Given the description of an element on the screen output the (x, y) to click on. 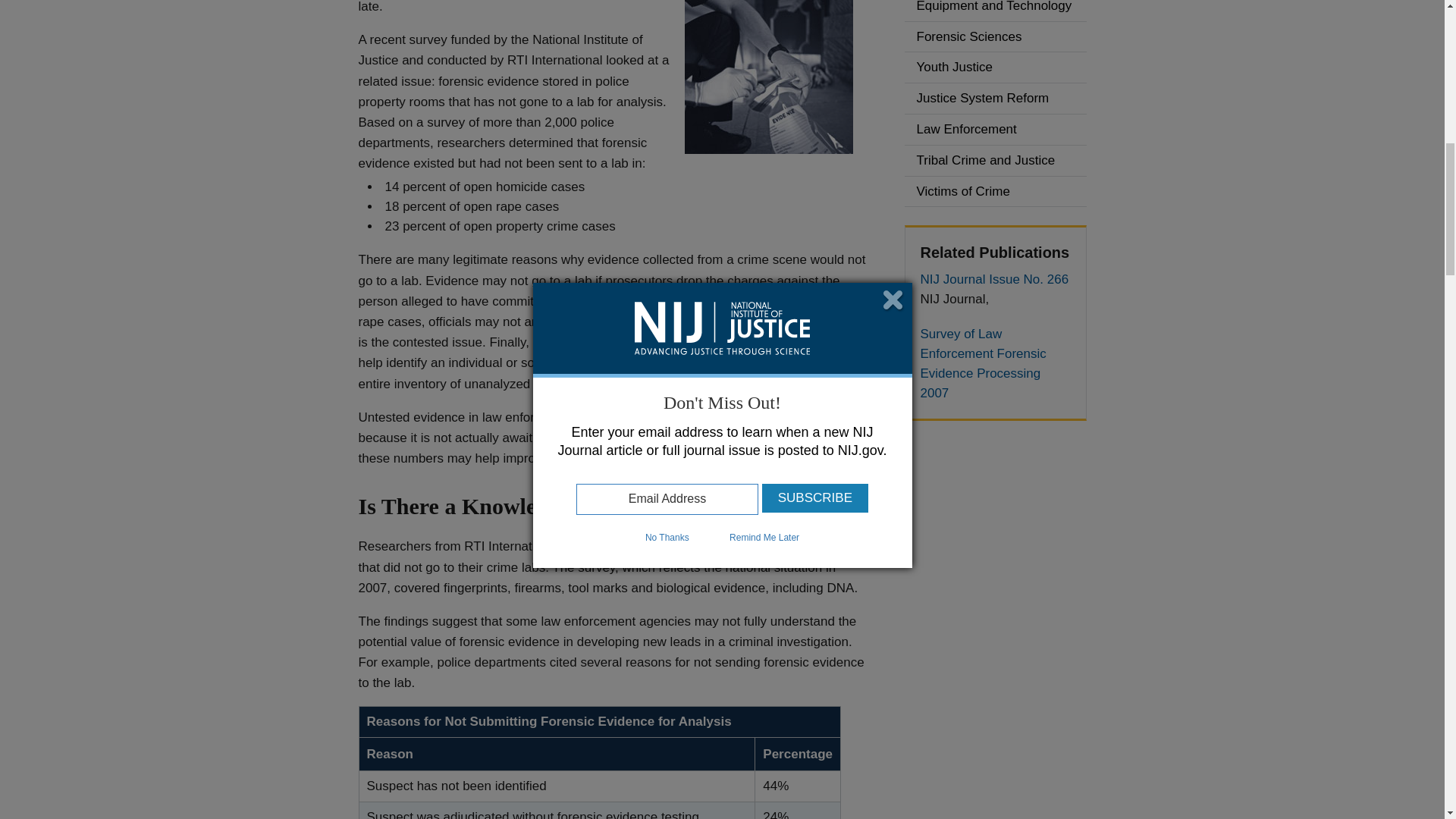
Survey of Law Enforcement Forensic Evidence Processing 2007 (995, 363)
NIJ Journal Issue No. 266 (995, 279)
untested.jpg (767, 76)
Copy link to section: Is There a Knowledge Gap? (640, 504)
